Given the description of an element on the screen output the (x, y) to click on. 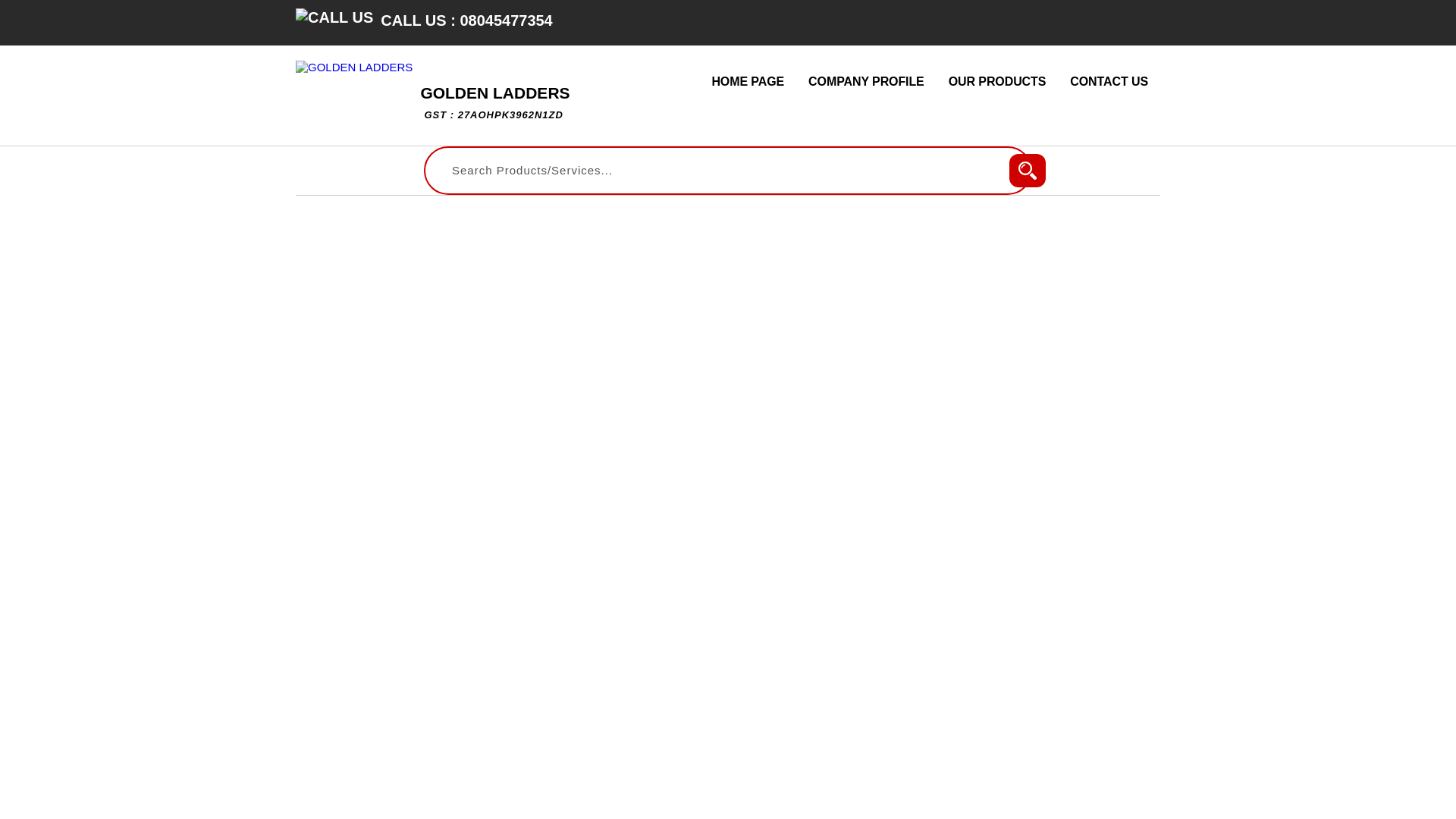
submit (1027, 170)
Search (494, 102)
Call Us (1027, 170)
HOME PAGE (333, 17)
OUR PRODUCTS (747, 81)
COMPANY PROFILE (997, 81)
